Given the description of an element on the screen output the (x, y) to click on. 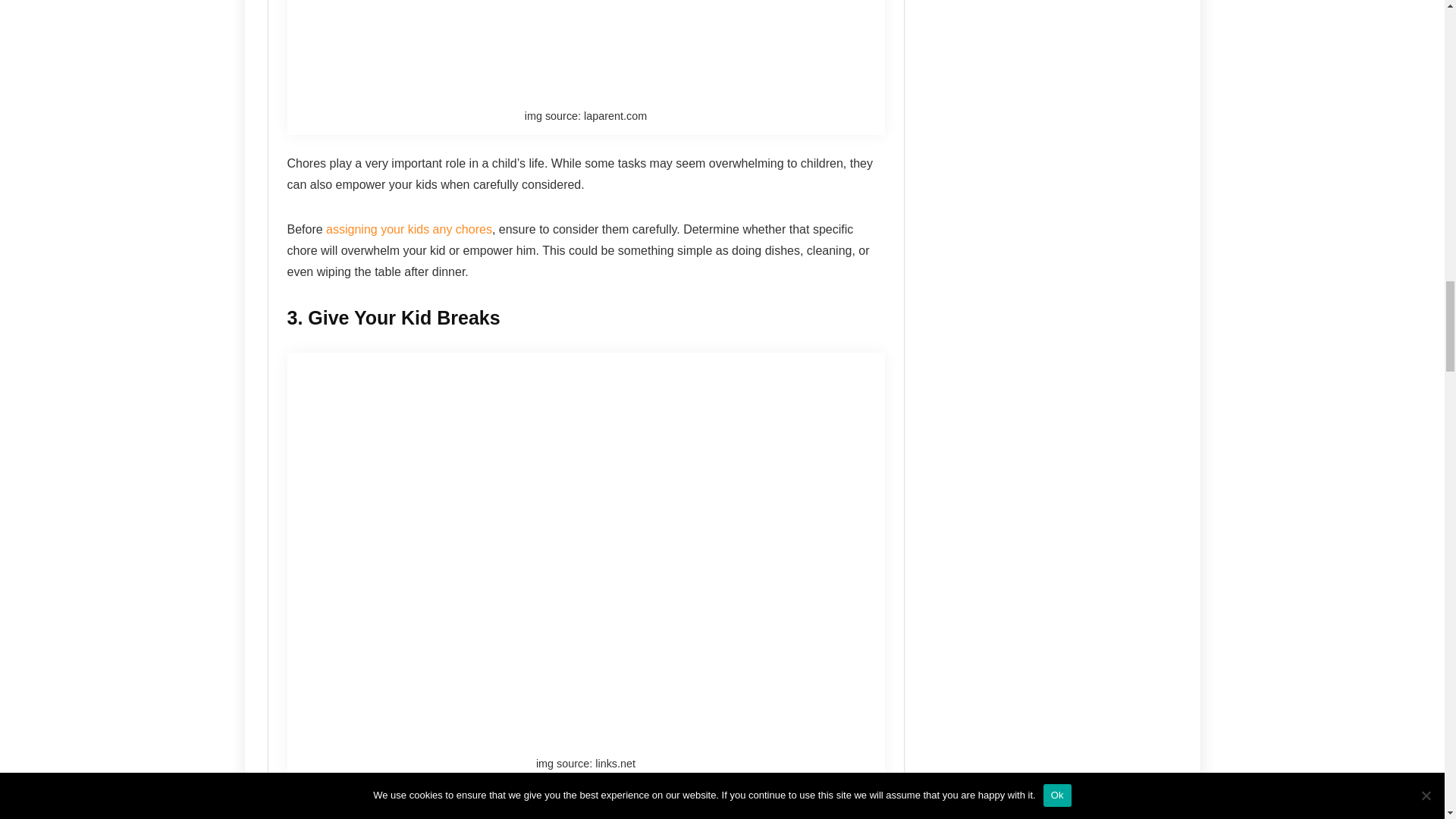
assigning your kids any chores (409, 228)
